Given the description of an element on the screen output the (x, y) to click on. 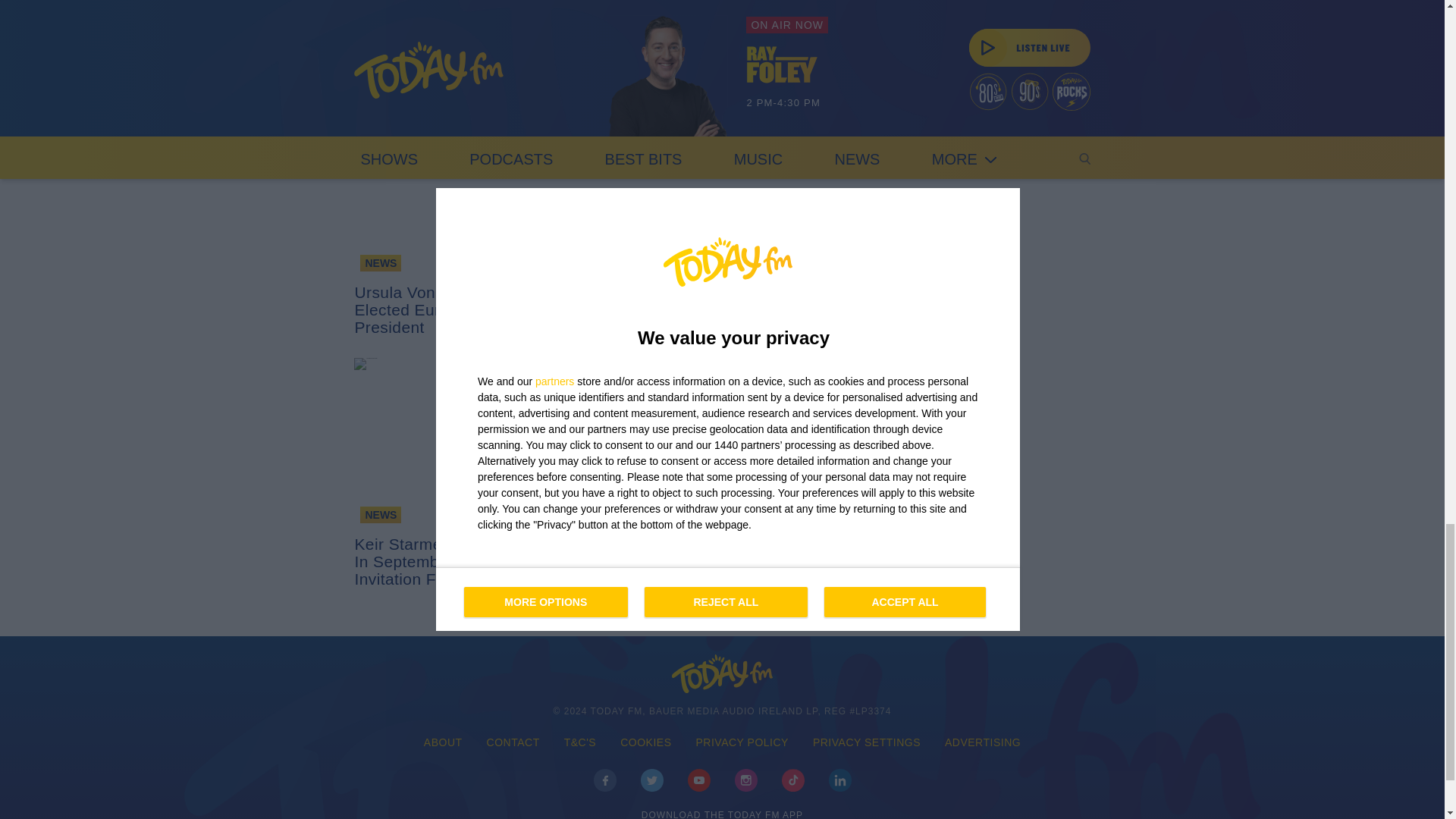
Advertising (982, 742)
Cookies (645, 742)
Privacy Policy (742, 742)
Privacy settings (866, 742)
Contact (512, 742)
About (443, 742)
